Given the description of an element on the screen output the (x, y) to click on. 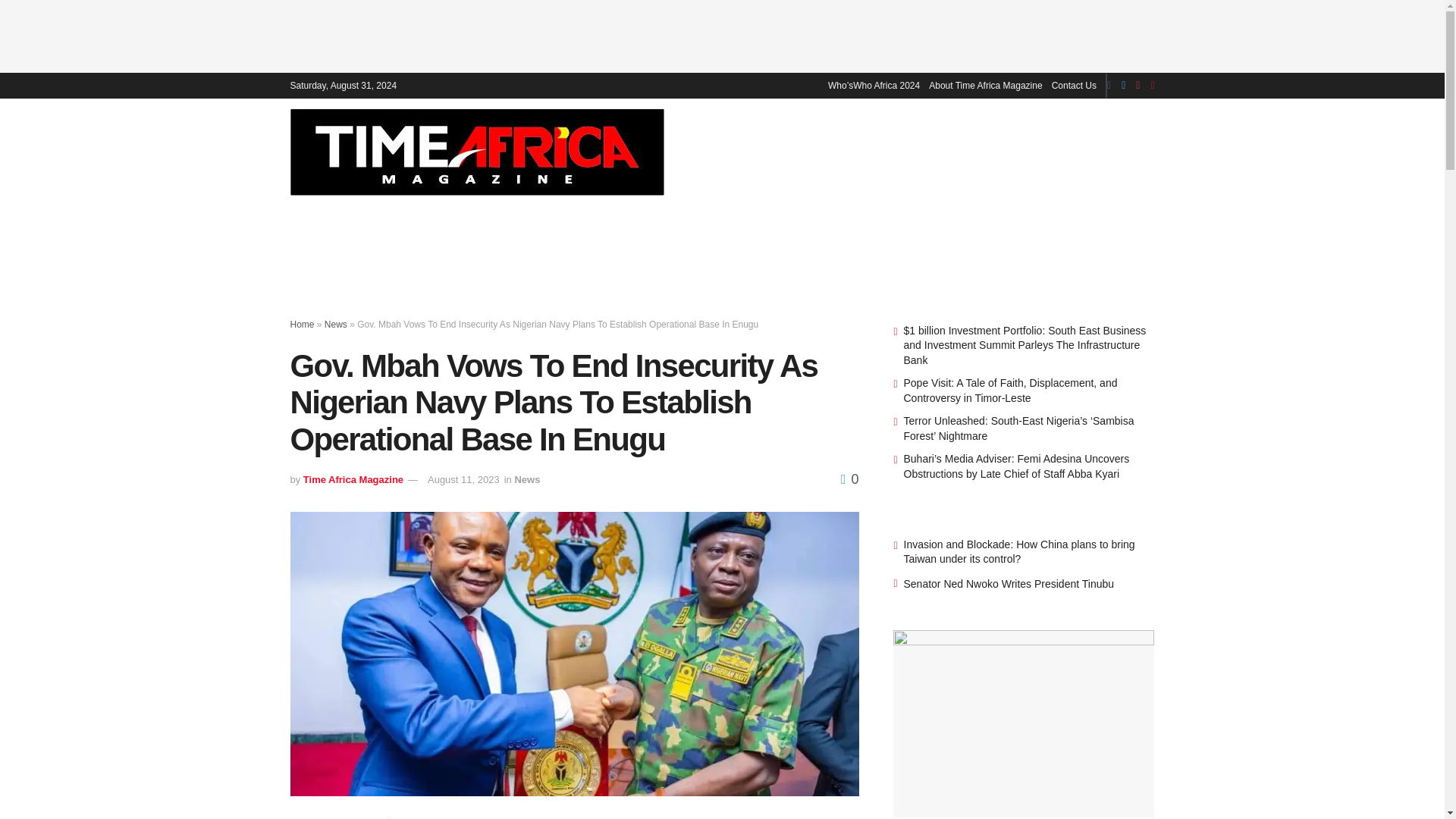
MAGAZINE (761, 151)
CRIME (1034, 151)
About Time Africa Magazine (985, 85)
POLITICS (976, 151)
WORLD NEWS (896, 151)
HOME (701, 151)
NEWS (822, 151)
Contact Us (1073, 85)
LIFESTYLE (1096, 151)
COLUMN (1229, 151)
